Given the description of an element on the screen output the (x, y) to click on. 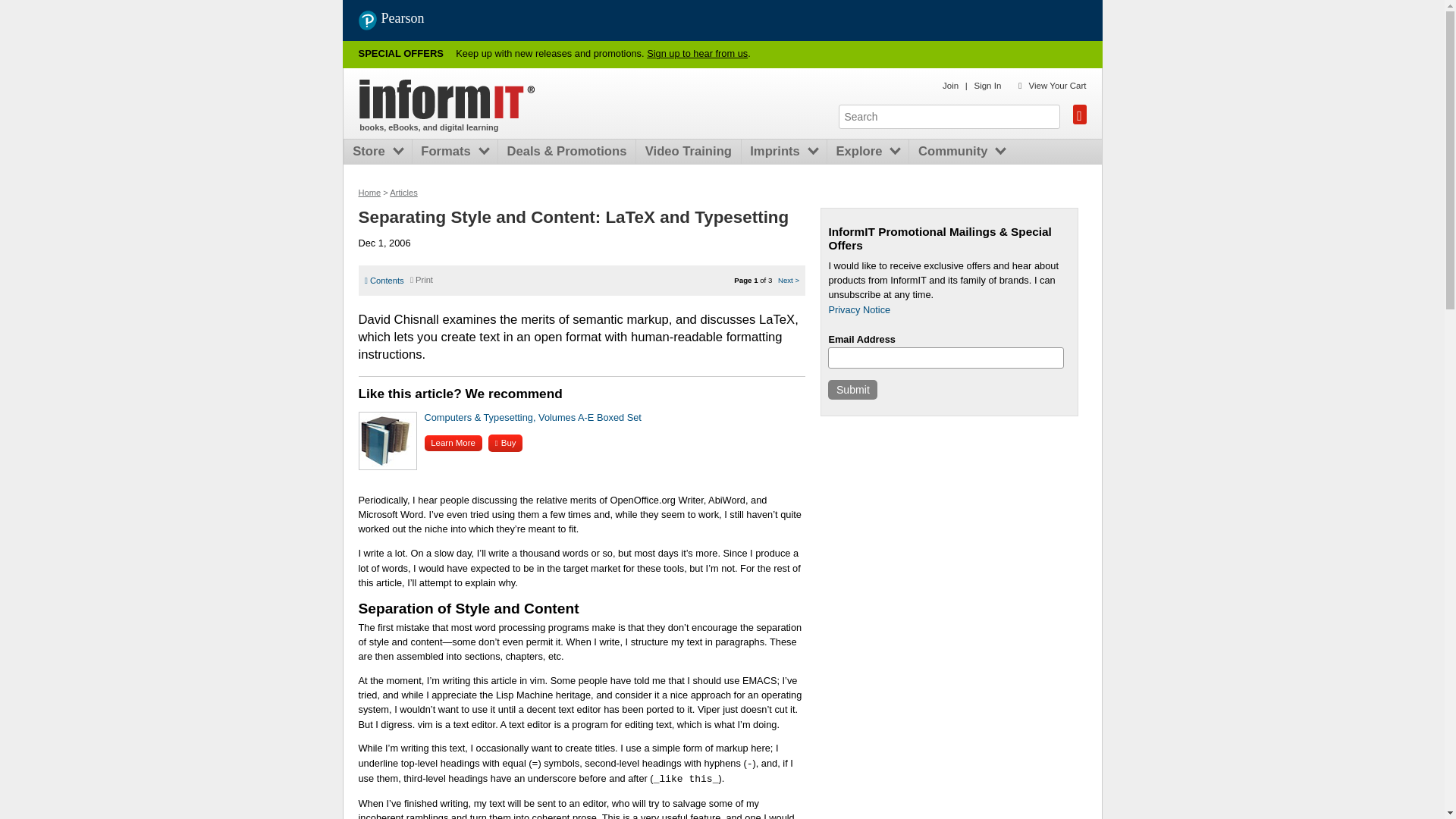
View Your Cart (1057, 85)
Submit (852, 389)
Articles (403, 192)
Sign up to hear from us (697, 52)
Sign In (987, 85)
Privacy Notice (858, 309)
Store (372, 151)
Home (369, 192)
Join (950, 85)
Home (446, 98)
